Given the description of an element on the screen output the (x, y) to click on. 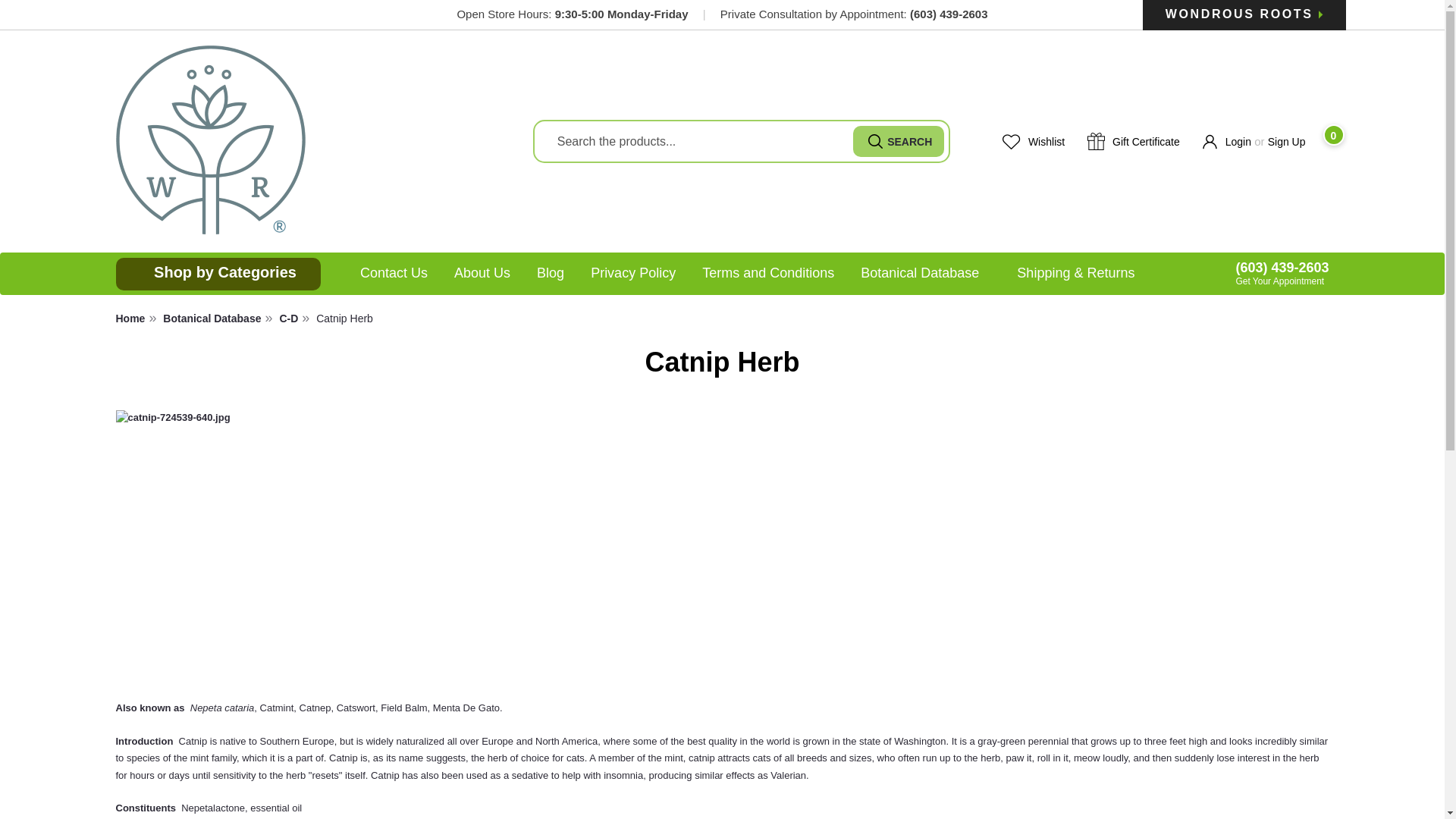
Login (1220, 141)
0 (1324, 141)
WONDROUS ROOTS (1243, 15)
Search (898, 141)
Wondrous Roots (209, 141)
Gift Certificate (1133, 141)
Search (898, 141)
catnip-724539-640.jpg (357, 546)
Sign Up (1292, 141)
Wishlist (1033, 141)
Search (898, 141)
